Given the description of an element on the screen output the (x, y) to click on. 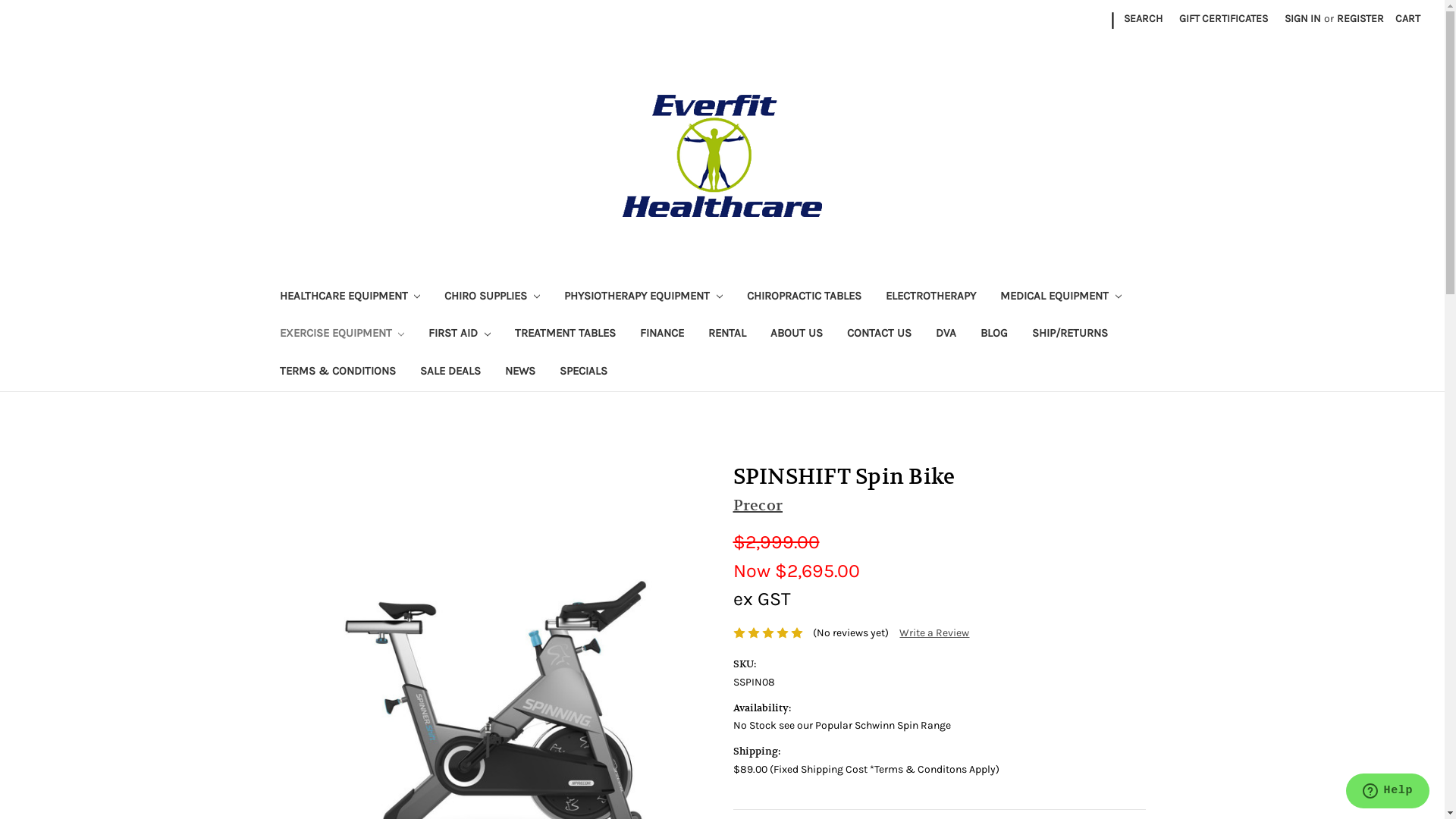
RENTAL Element type: text (727, 334)
CHIROPRACTIC TABLES Element type: text (803, 297)
PHYSIOTHERAPY EQUIPMENT Element type: text (643, 297)
CART Element type: text (1407, 18)
FIRST AID Element type: text (459, 334)
ELECTROTHERAPY Element type: text (930, 297)
BLOG Element type: text (993, 334)
NEWS Element type: text (519, 372)
DVA Element type: text (945, 334)
Precor Element type: text (757, 504)
Opens a widget where you can chat to one of our agents Element type: hover (1387, 792)
Write a Review Element type: text (934, 632)
GIFT CERTIFICATES Element type: text (1223, 18)
CONTACT US Element type: text (878, 334)
MEDICAL EQUIPMENT Element type: text (1060, 297)
HEALTHCARE EQUIPMENT Element type: text (349, 297)
SEARCH Element type: text (1142, 18)
CHIRO SUPPLIES Element type: text (492, 297)
ABOUT US Element type: text (796, 334)
FINANCE Element type: text (661, 334)
EXERCISE EQUIPMENT Element type: text (341, 334)
TERMS & CONDITIONS Element type: text (336, 372)
TREATMENT TABLES Element type: text (564, 334)
SHIP/RETURNS Element type: text (1069, 334)
REGISTER Element type: text (1360, 18)
SPECIALS Element type: text (583, 372)
SALE DEALS Element type: text (449, 372)
SIGN IN Element type: text (1302, 18)
